Given the description of an element on the screen output the (x, y) to click on. 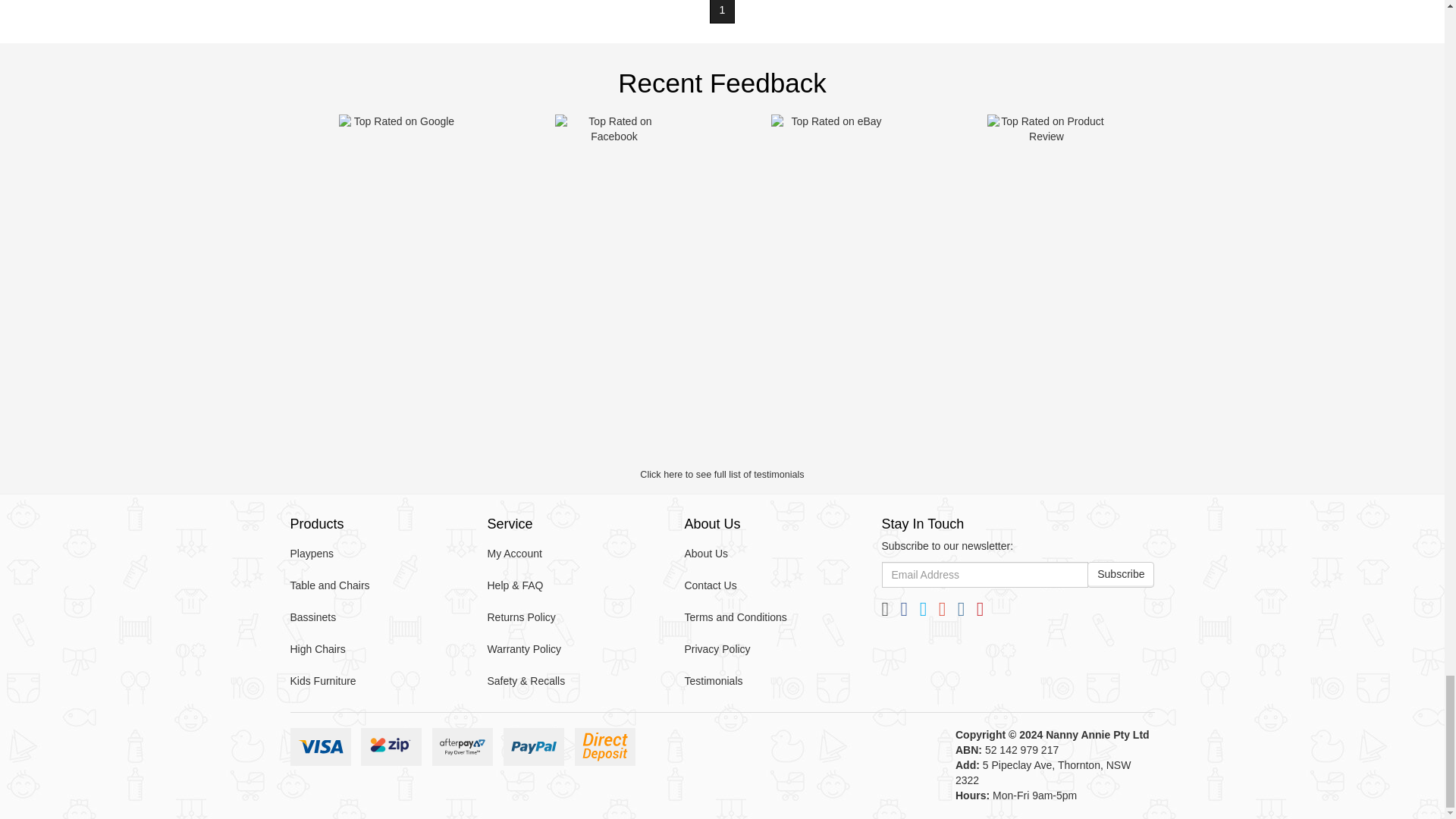
Subscribe (1120, 574)
